Given the description of an element on the screen output the (x, y) to click on. 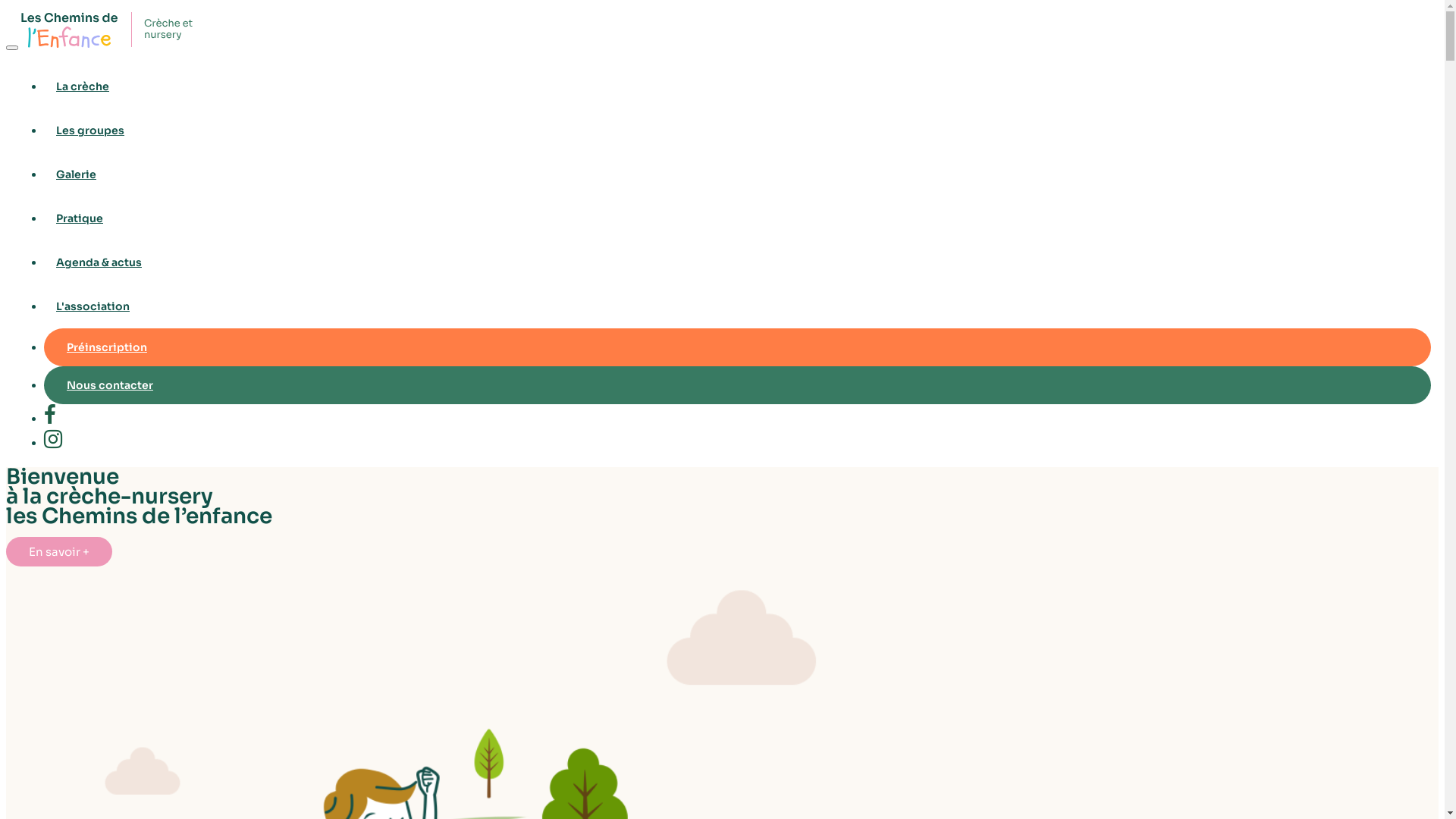
Agenda & actus Element type: text (736, 262)
L'association Element type: text (736, 306)
Pratique Element type: text (736, 218)
Les groupes Element type: text (736, 130)
Galerie Element type: text (736, 174)
En savoir + Element type: text (59, 551)
Nous contacter Element type: text (736, 385)
